Given the description of an element on the screen output the (x, y) to click on. 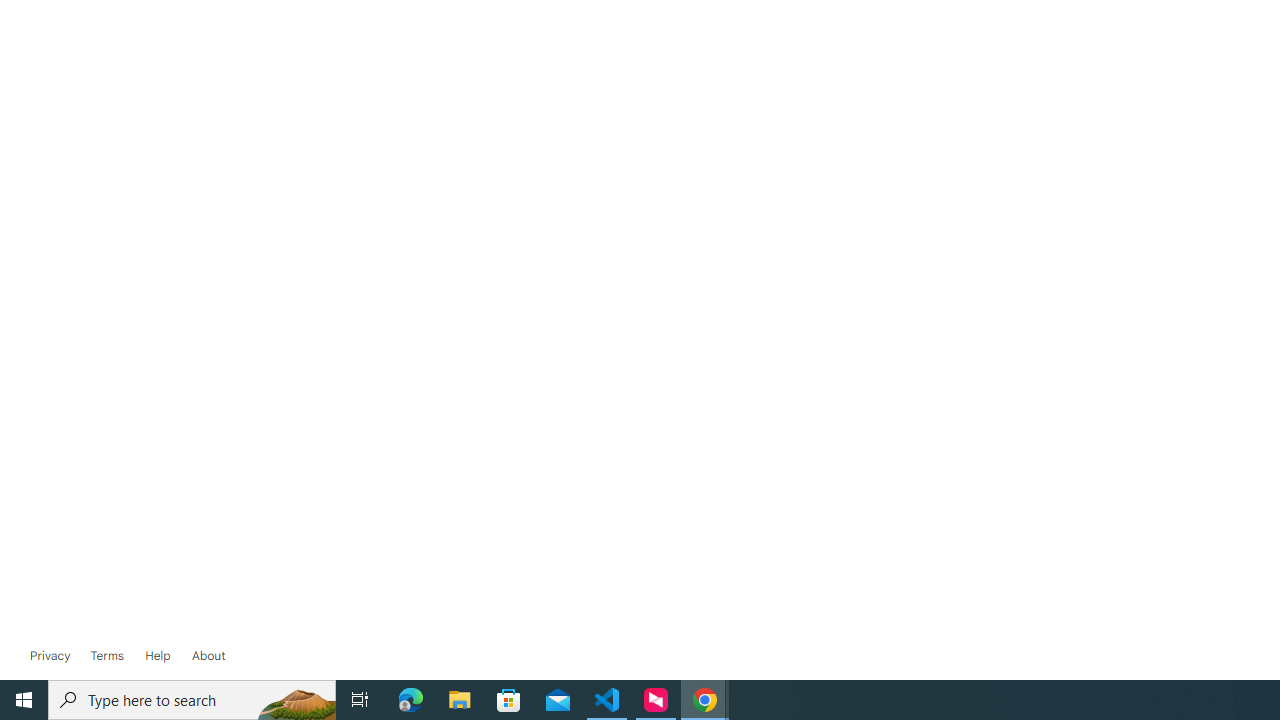
Learn more about Google Account (208, 655)
Privacy (50, 655)
Help (158, 655)
Terms (106, 655)
